Given the description of an element on the screen output the (x, y) to click on. 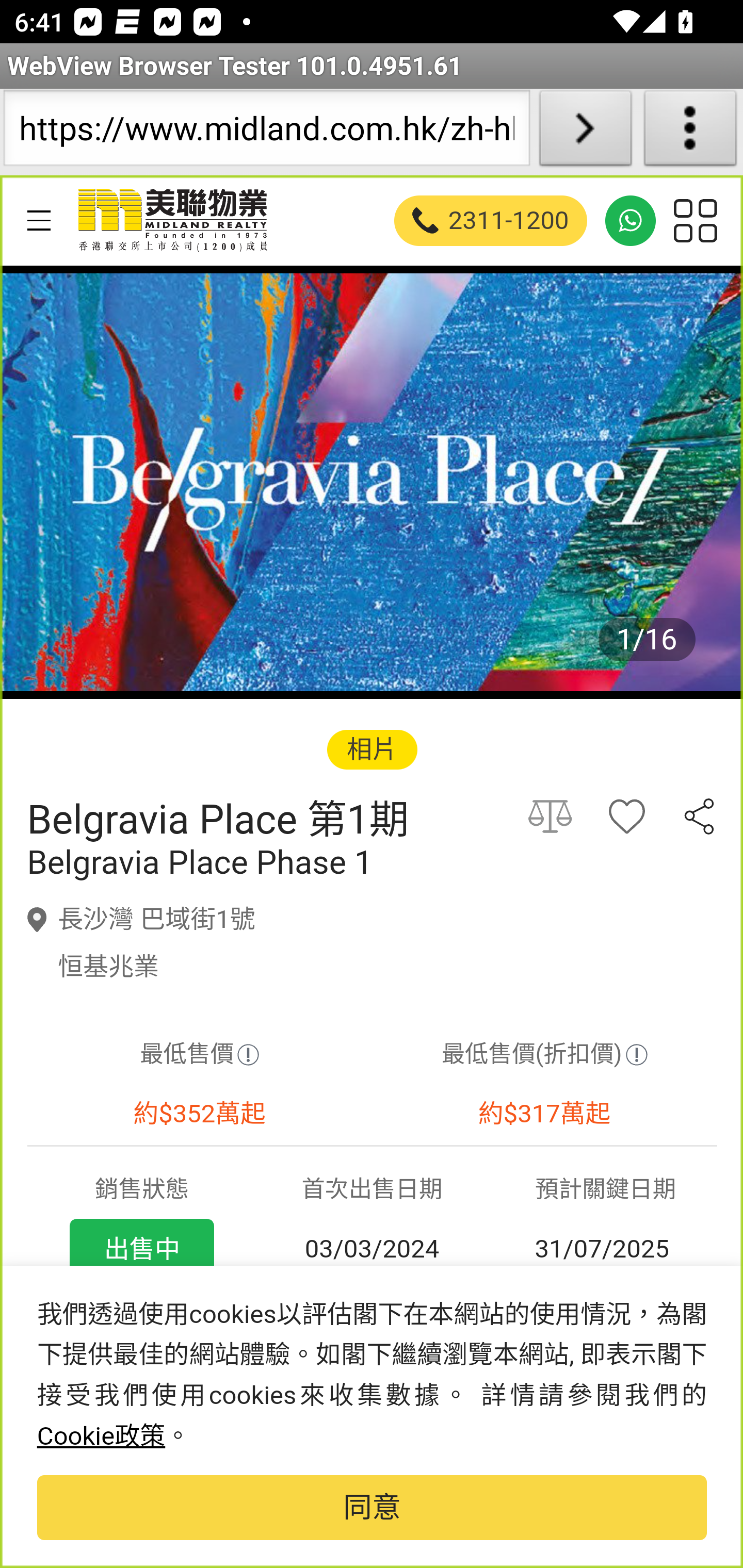
Load URL (585, 132)
About WebView (690, 132)
美聯物業 - 香港地產代理 (171, 220)
2311-1200 (490, 219)
WhatsApp: 2311-1200 (630, 219)
相片 (372, 749)
長沙灣 巴域街1號 (156, 918)
最低售價 (199, 1054)
最低售價(折扣價) (543, 1054)
出售中 (141, 1249)
Cookie政策 (101, 1435)
同意 (372, 1508)
